Given the description of an element on the screen output the (x, y) to click on. 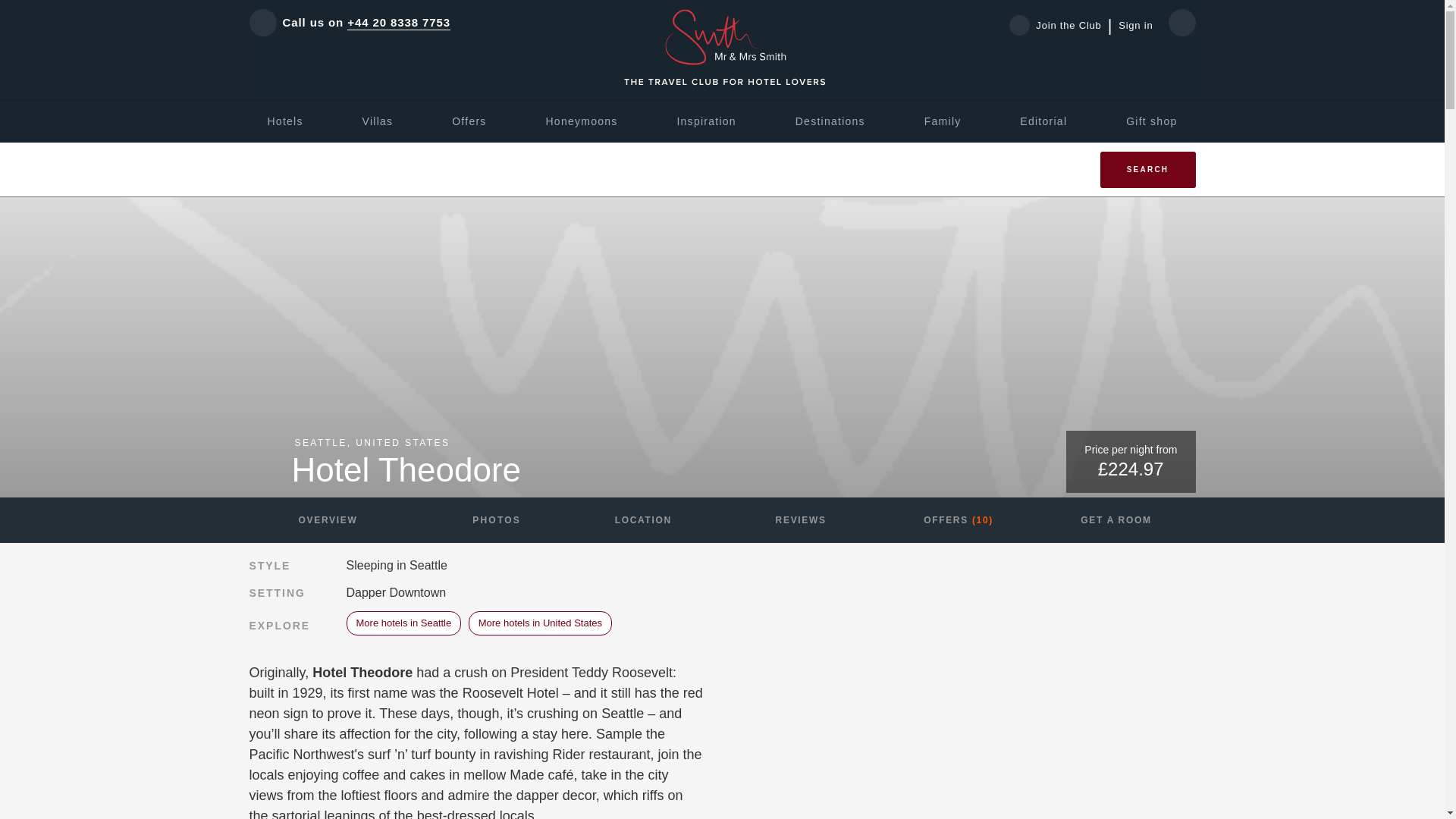
Hotels (284, 121)
LOCATION (642, 520)
SEARCH (1147, 169)
Sign in (1135, 25)
UNITED STATES (402, 442)
PHOTOS (485, 520)
Offers (468, 121)
Join the Club (1060, 25)
Editorial (1043, 121)
Villas (377, 121)
More hotels in Seattle (403, 622)
Destinations (829, 121)
Gift shop (1150, 121)
Family (942, 121)
REVIEWS (801, 520)
